Given the description of an element on the screen output the (x, y) to click on. 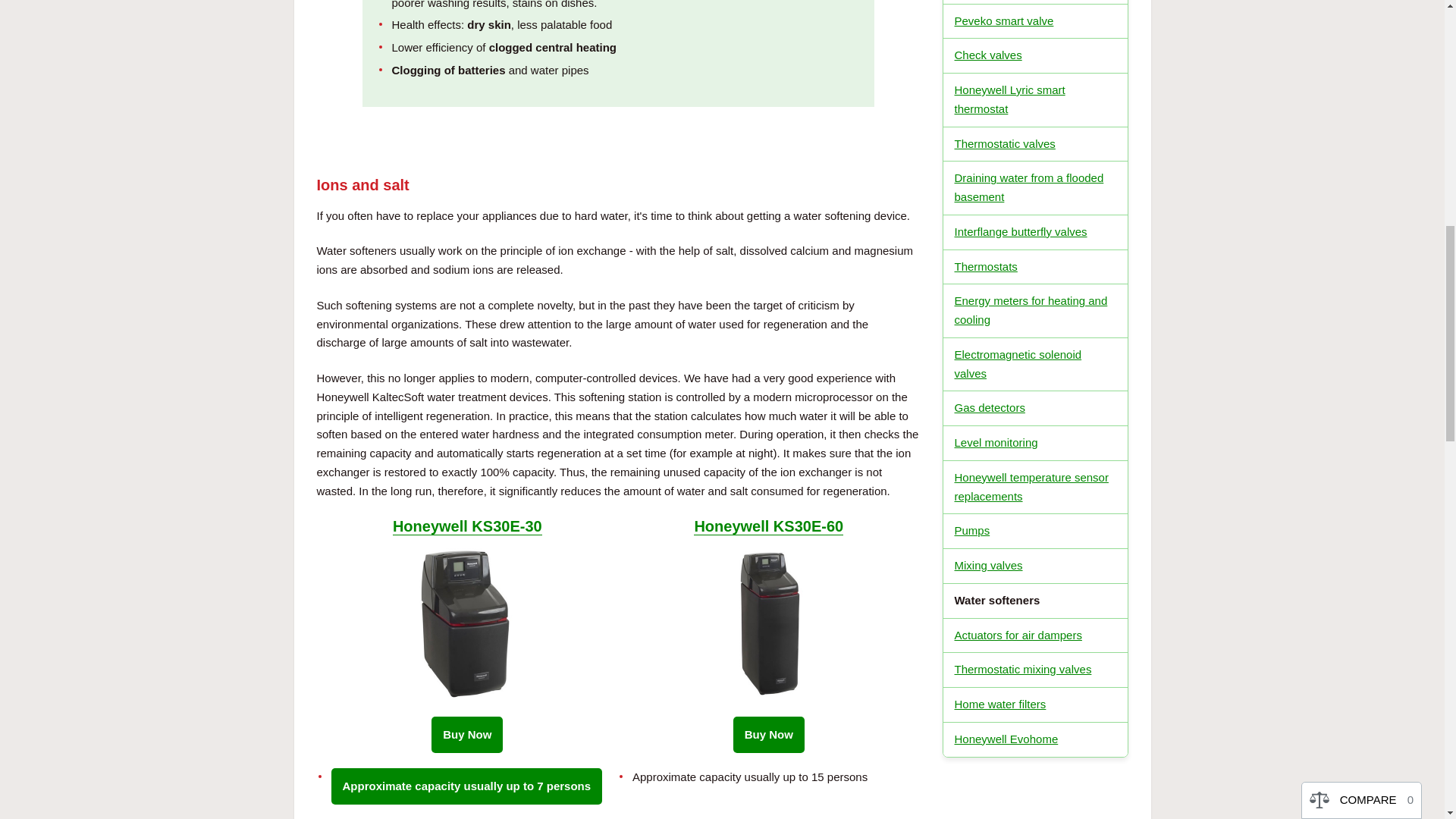
Honeywell KS30E-30 (467, 526)
Honeywell KS30E-60 (768, 526)
